Given the description of an element on the screen output the (x, y) to click on. 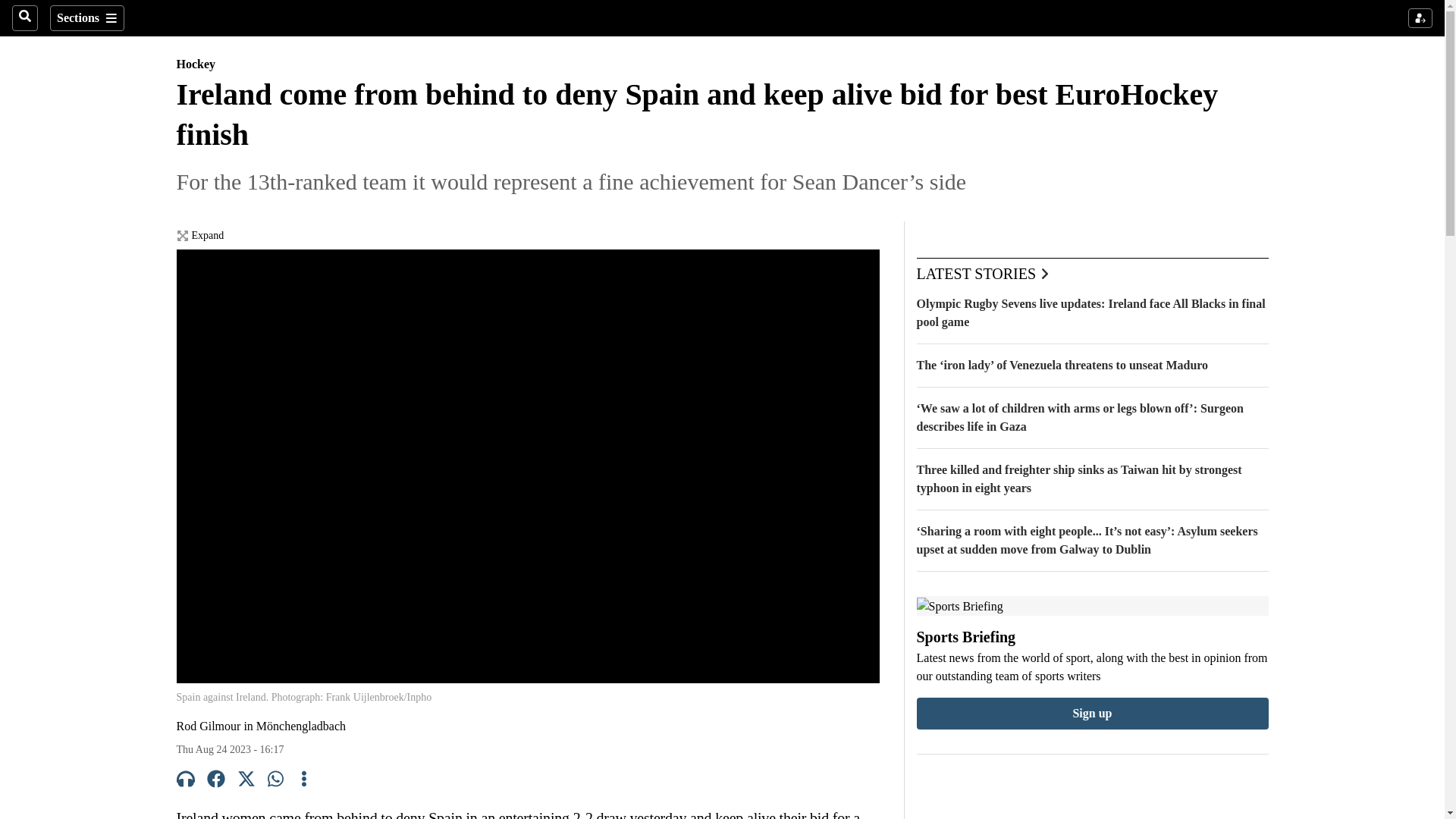
WhatsApp (275, 781)
Facebook (215, 781)
Sections (86, 17)
X (244, 781)
